Given the description of an element on the screen output the (x, y) to click on. 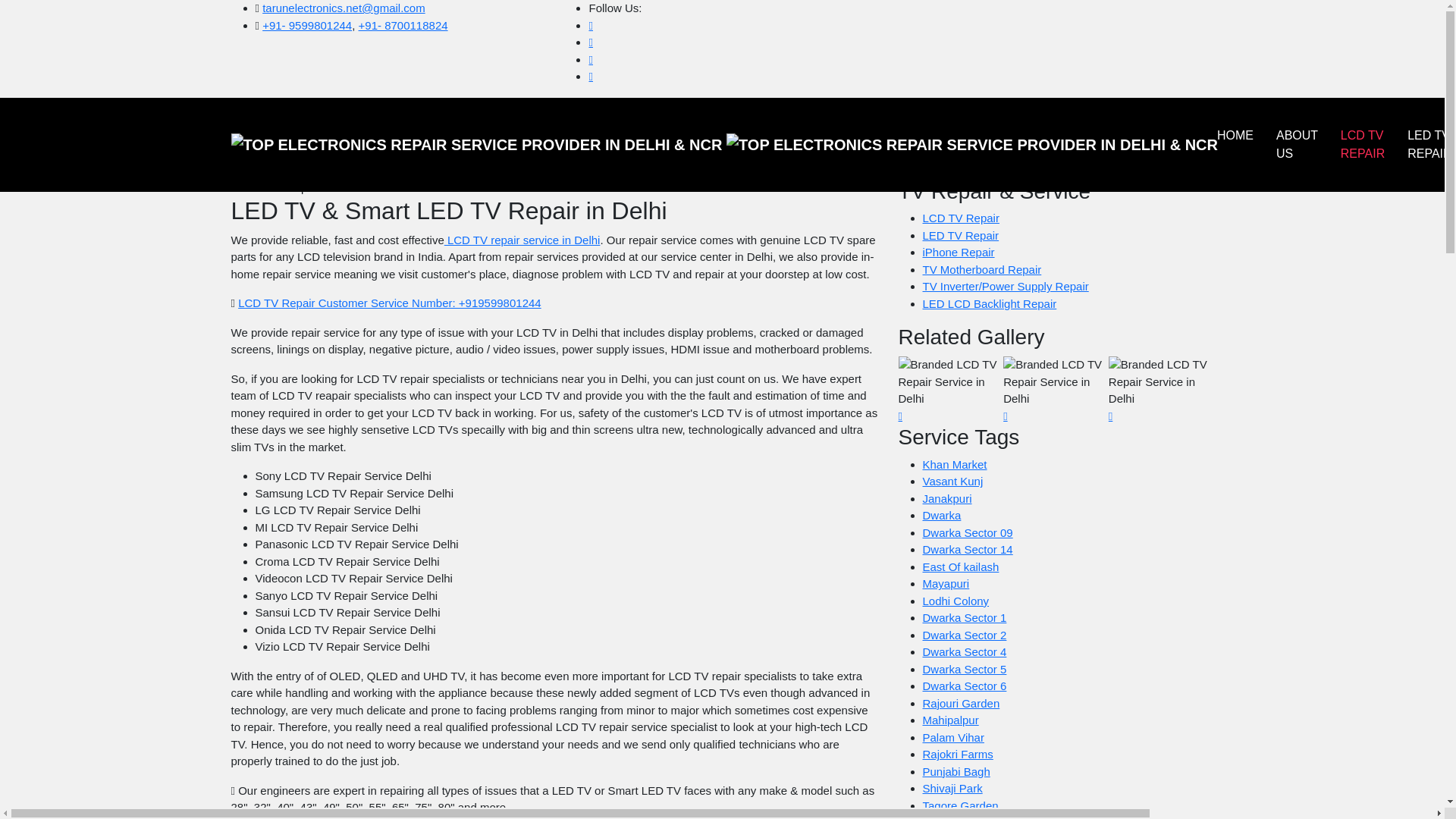
LED TV REPAIR (1429, 144)
ABOUT US (1296, 144)
LCD TV REPAIR (1362, 144)
HOME (1235, 135)
